Given the description of an element on the screen output the (x, y) to click on. 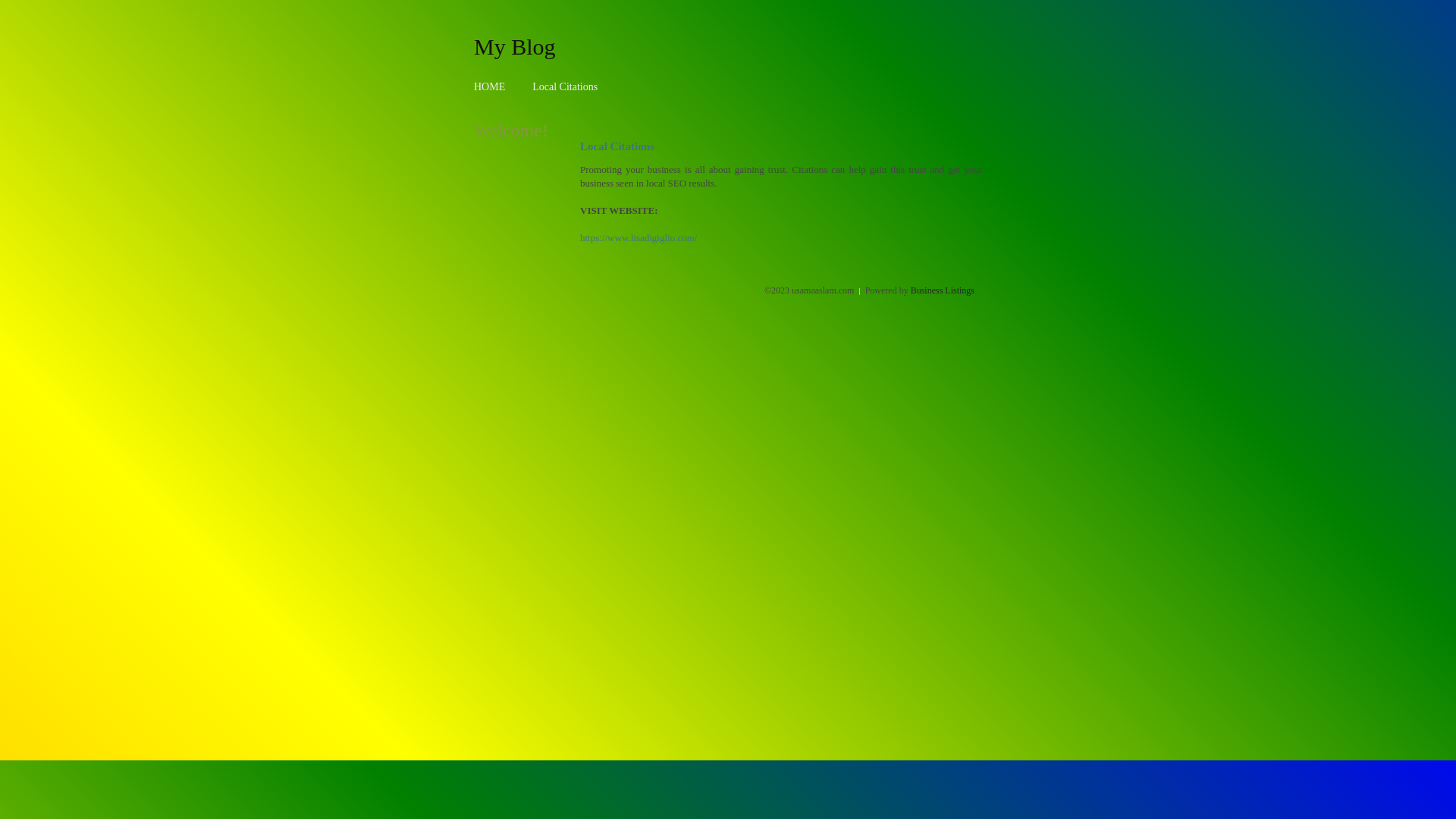
My Blog Element type: text (514, 46)
https://www.lisadigiglio.com/ Element type: text (638, 237)
HOME Element type: text (489, 86)
Business Listings Element type: text (942, 290)
Local Citations Element type: text (564, 86)
